Given the description of an element on the screen output the (x, y) to click on. 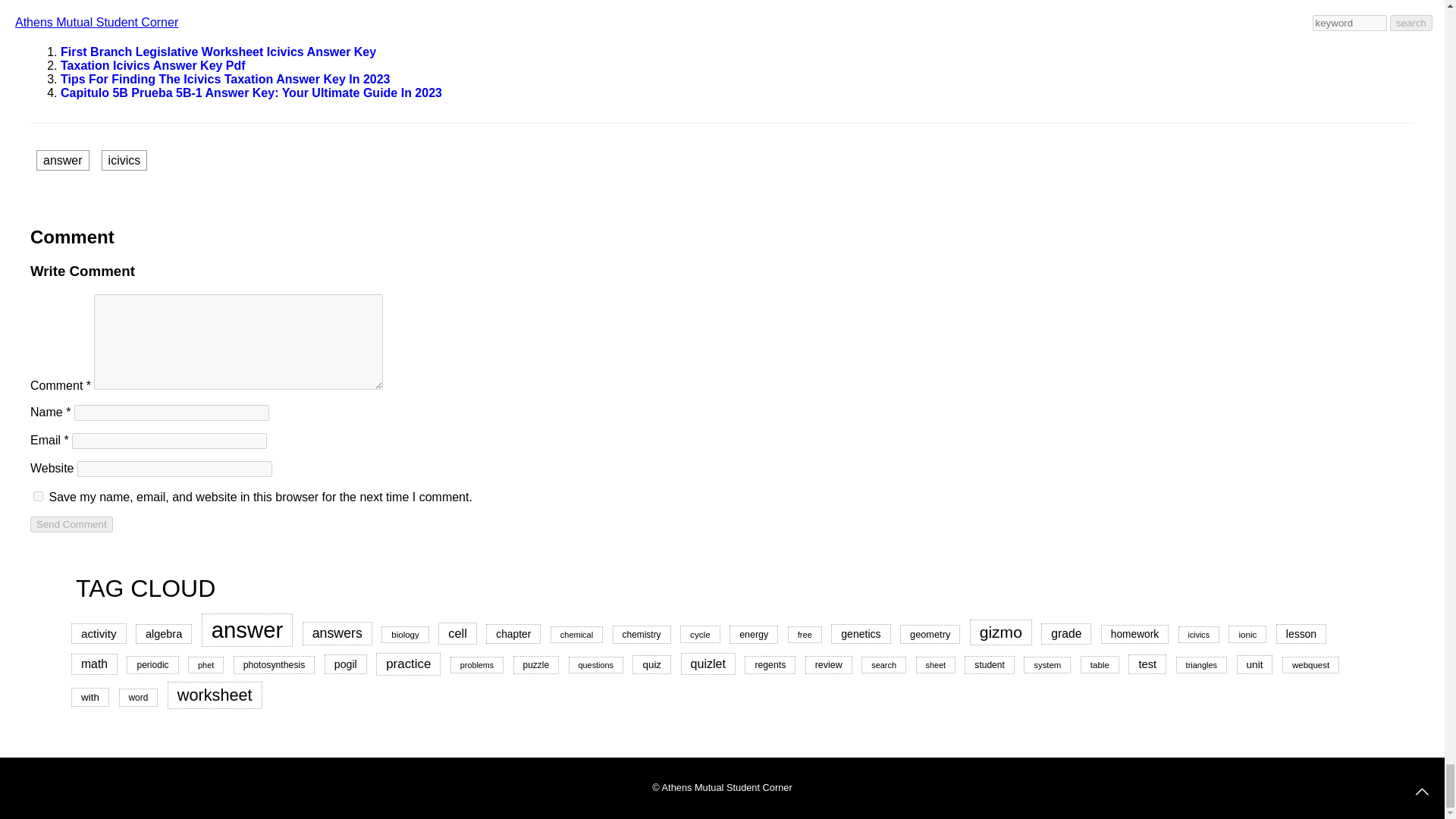
cycle (699, 633)
icivics (1198, 634)
First Branch Legislative Worksheet Icivics Answer Key (218, 51)
practice (408, 663)
puzzle (536, 665)
gizmo (1000, 632)
genetics (860, 633)
biology (404, 634)
Tips For Finding The Icivics Taxation Answer Key In 2023 (225, 78)
answer (62, 159)
